Given the description of an element on the screen output the (x, y) to click on. 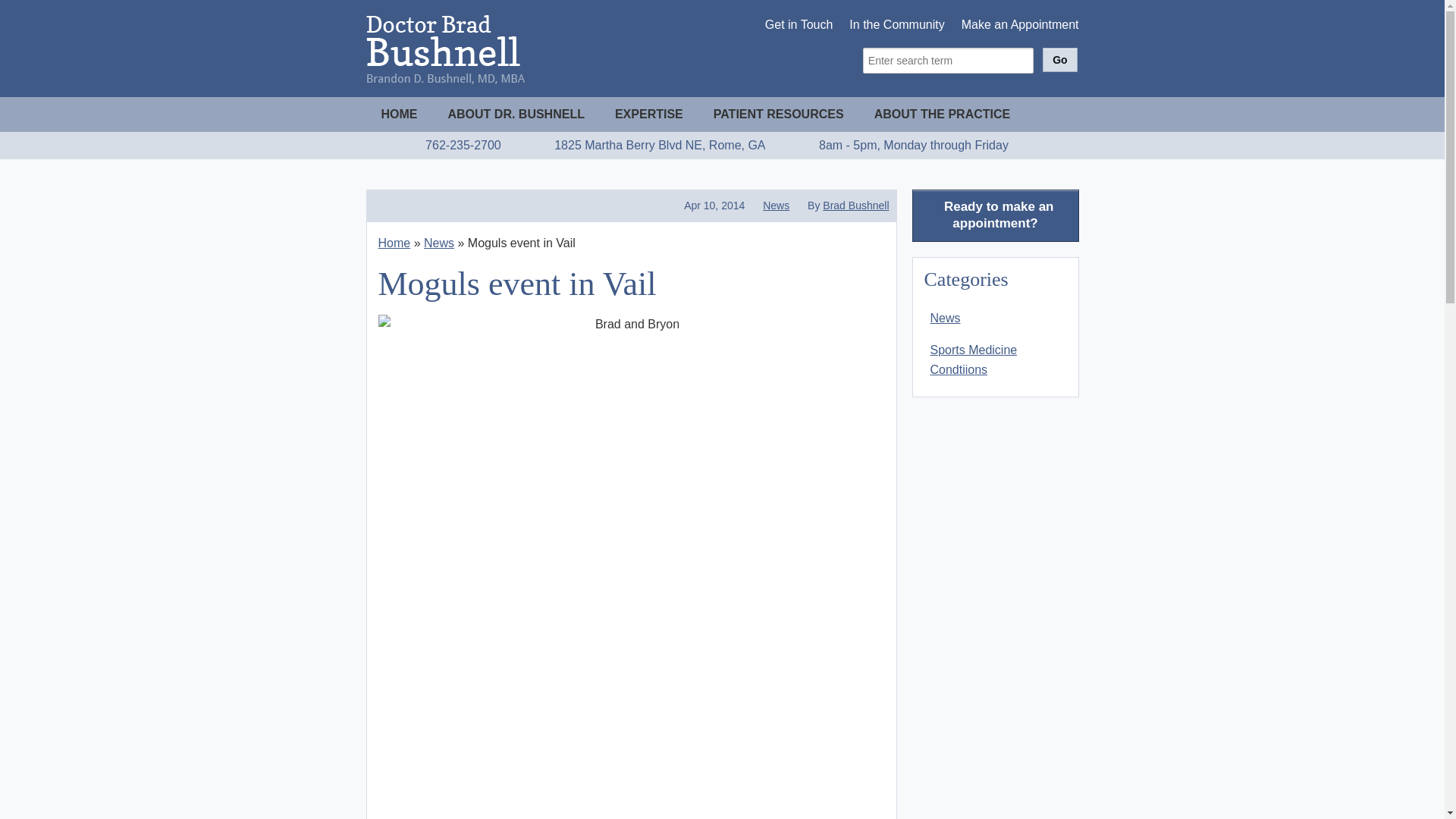
Get in Touch (798, 25)
HOME (398, 114)
News (438, 242)
News (775, 205)
PATIENT RESOURCES (778, 114)
Make an Appointment (1019, 25)
ABOUT THE PRACTICE (942, 114)
In the Community (895, 25)
Home (393, 242)
Go (1059, 59)
Go (1059, 59)
Posts by Brad Bushnell (855, 205)
Brad Bushnell (855, 205)
ABOUT DR. BUSHNELL (515, 114)
EXPERTISE (648, 114)
